Given the description of an element on the screen output the (x, y) to click on. 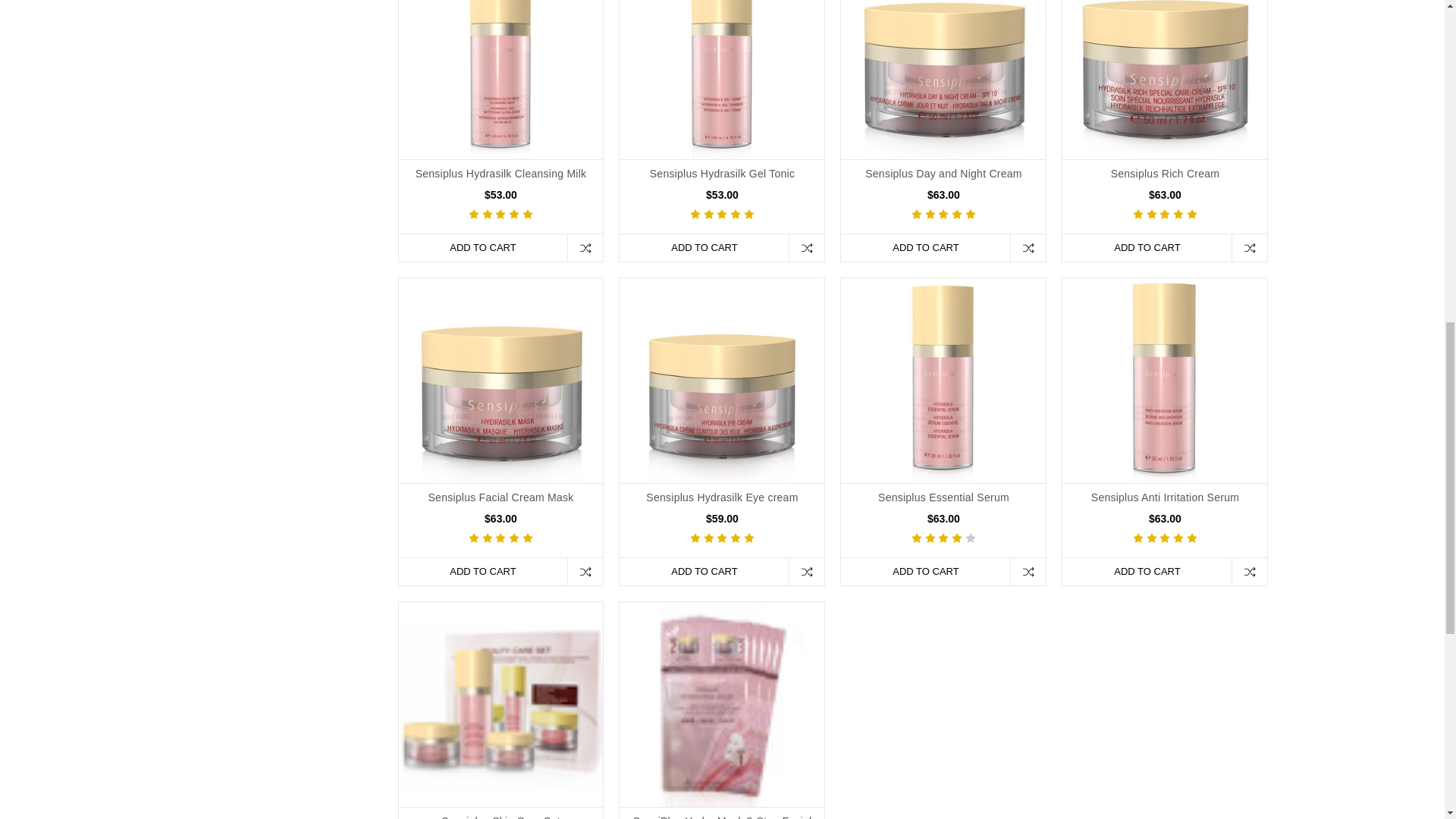
serum for sensitive, irritated skin  (1164, 380)
cream-mask for sensitive skin (501, 380)
sensitive skin facial mask (722, 703)
cleansing milk  for sensitive skin  (501, 79)
essential serum for sensitive skin  (943, 381)
rich cream for sensitive skin (1164, 76)
eye cream for sensitive skin (722, 379)
cream for sensitive skin  (943, 79)
skin care set for sensitive skin   (501, 704)
gel-tonic for sensitive skin (722, 79)
